Given the description of an element on the screen output the (x, y) to click on. 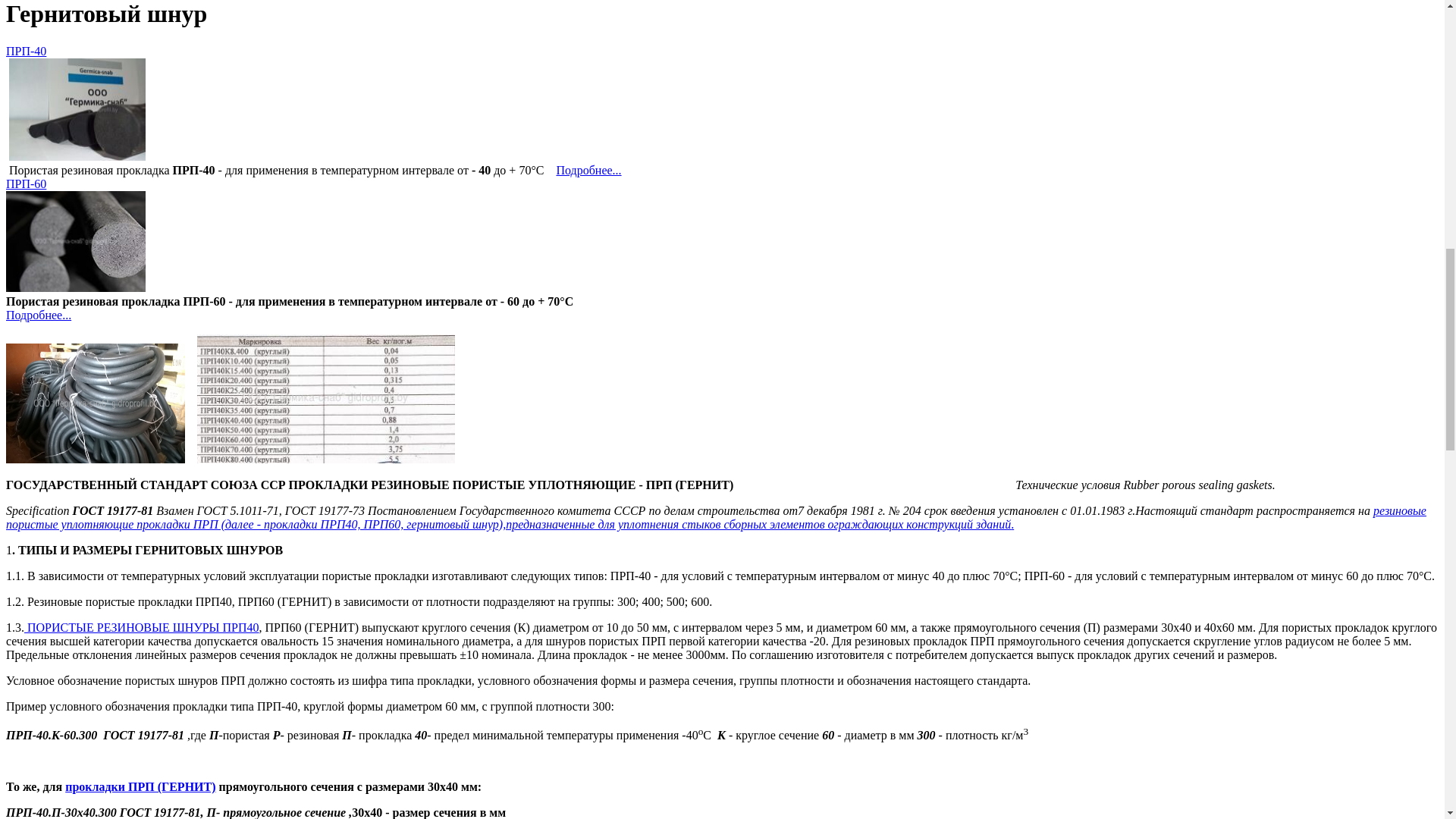
+375 (17) 395-76-00 Element type: text (61, 220)
e-mail : germica-snab@yandex.by Element type: text (722, 276)
+375 (17) 395-57-57 Element type: text (61, 193)
+375 (29) 668-59-90 Element type: text (61, 248)
